Given the description of an element on the screen output the (x, y) to click on. 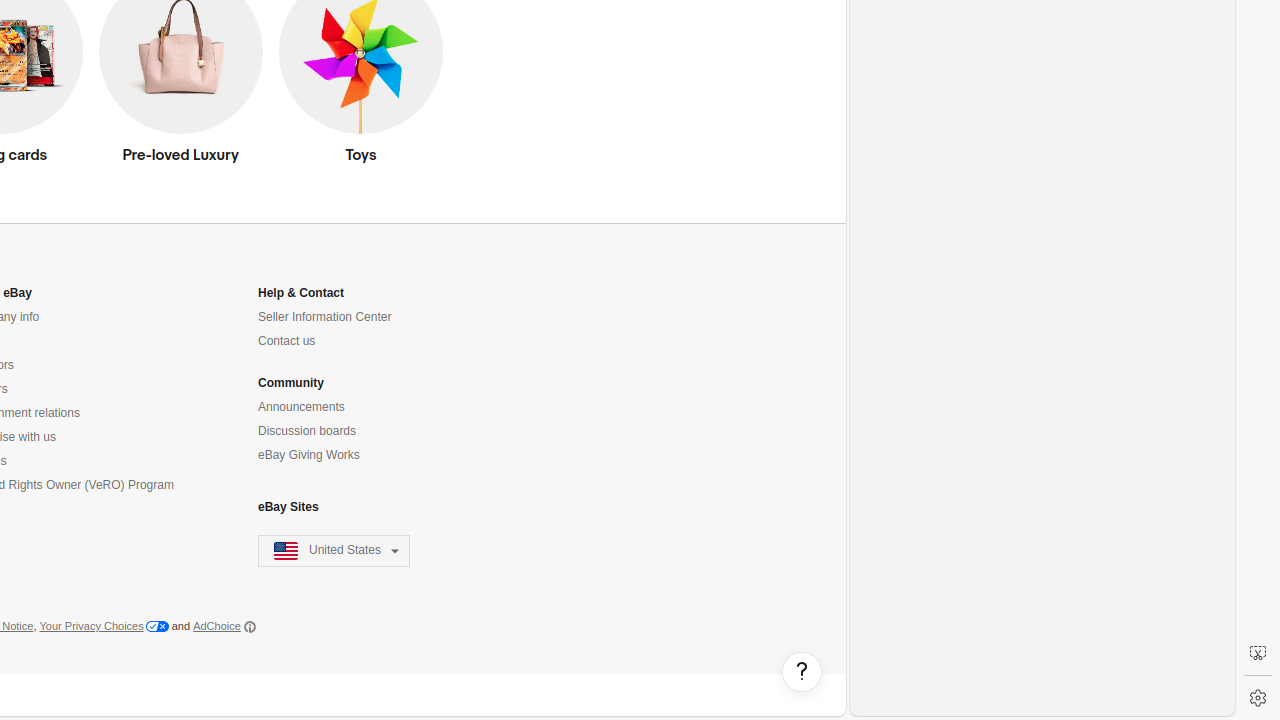
AdChoice Element type: link (224, 627)
Seller Information Center Element type: link (325, 317)
